Given the description of an element on the screen output the (x, y) to click on. 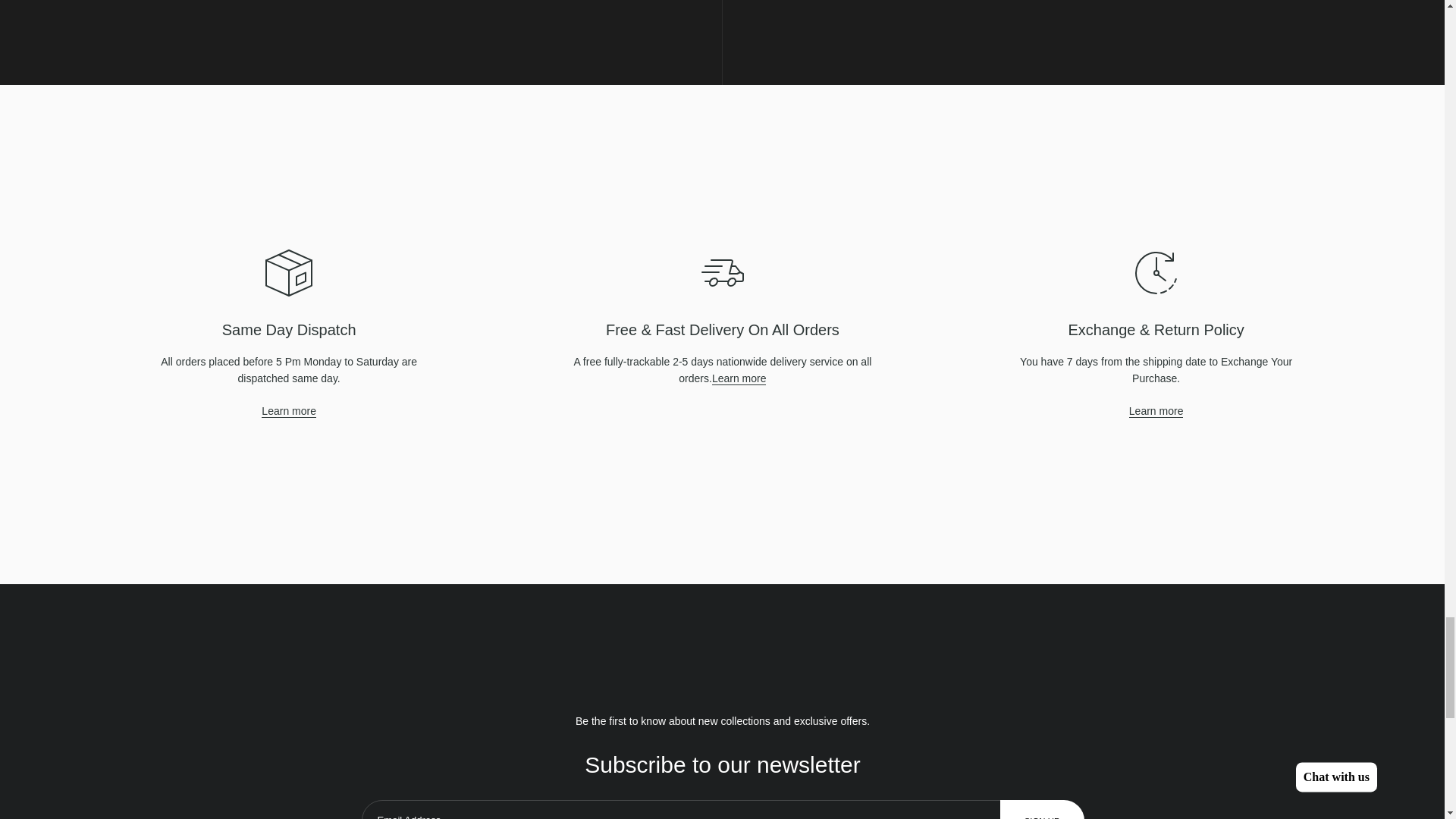
SIGN UP (1042, 817)
